Given the description of an element on the screen output the (x, y) to click on. 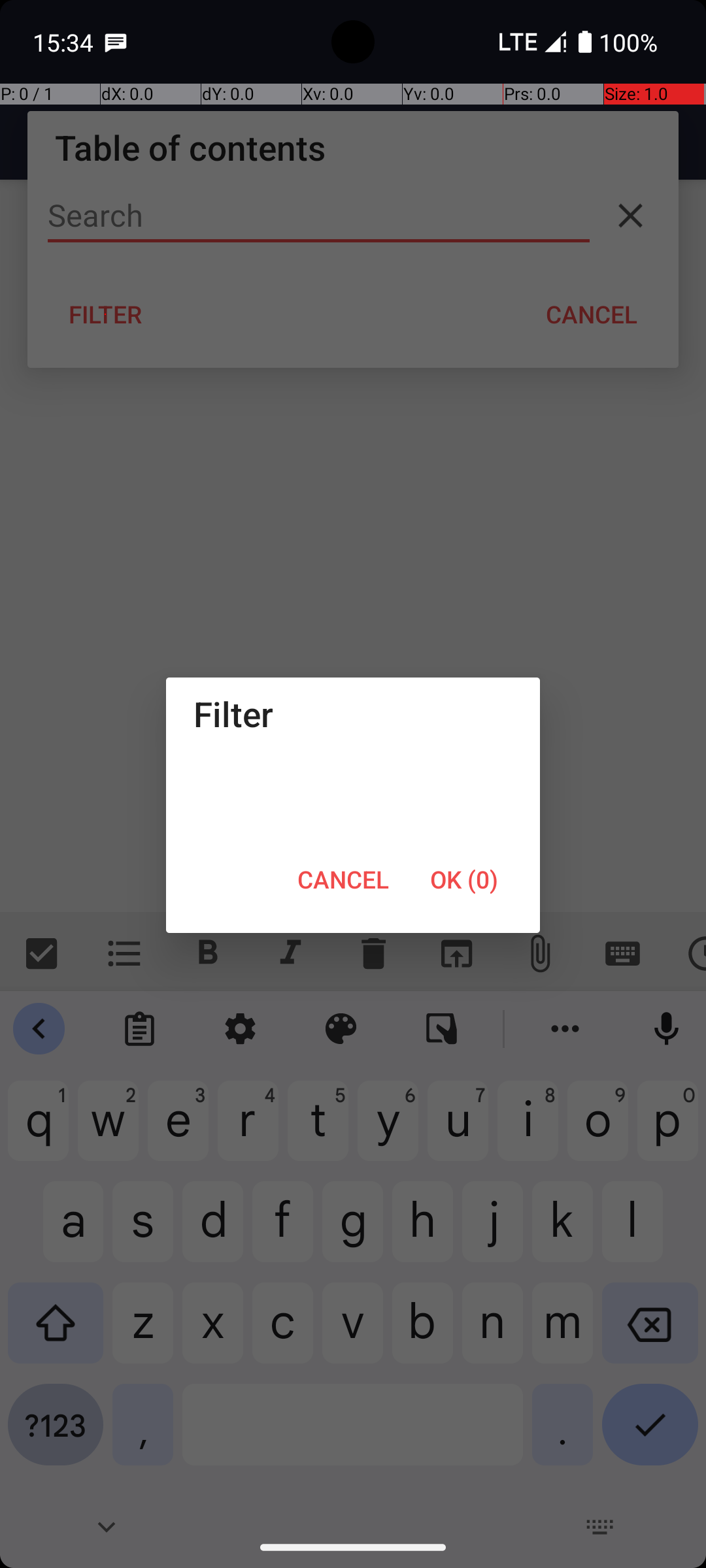
OK (0) Element type: android.widget.Button (464, 879)
